Given the description of an element on the screen output the (x, y) to click on. 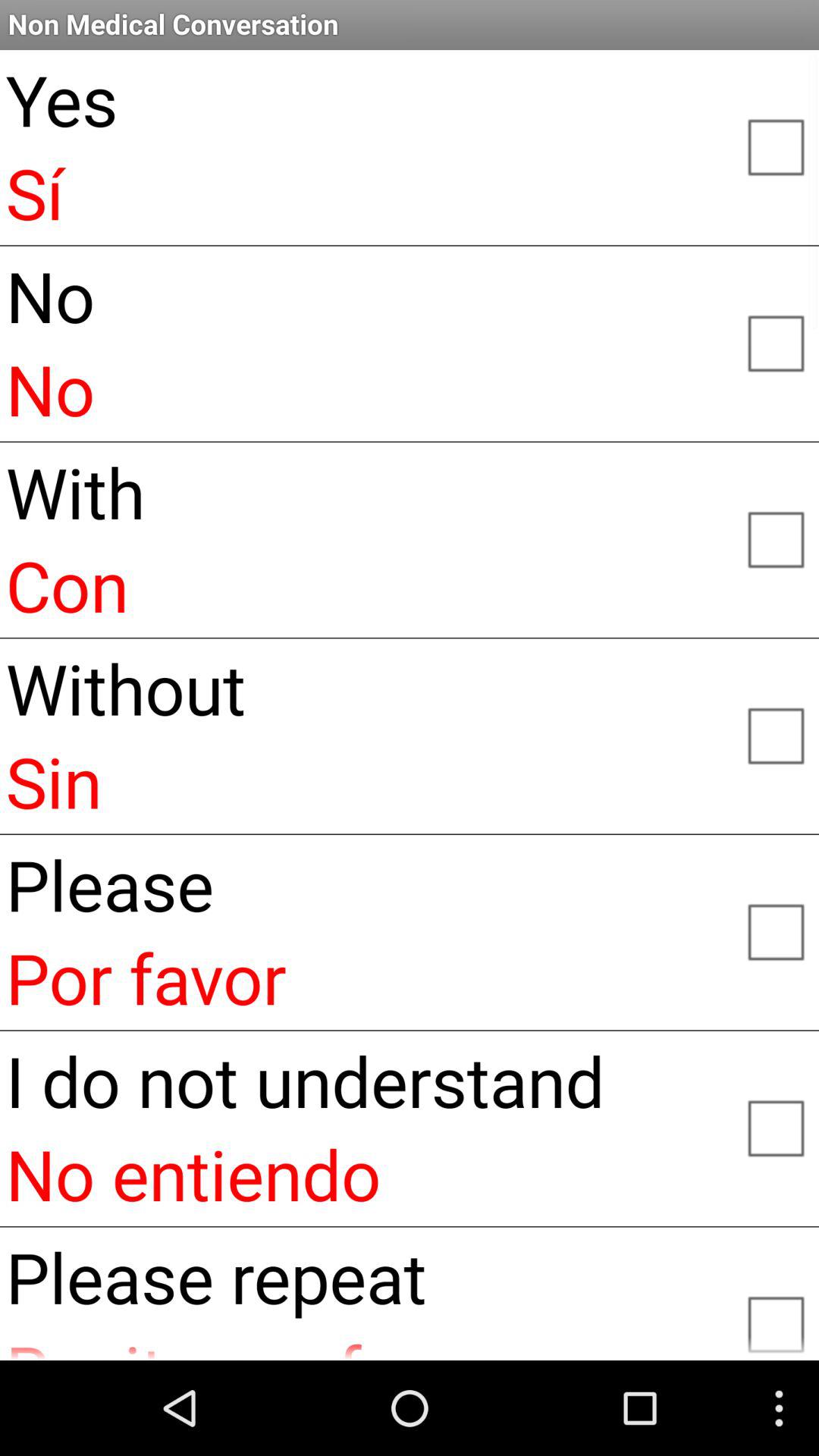
check/uncheck (775, 734)
